Given the description of an element on the screen output the (x, y) to click on. 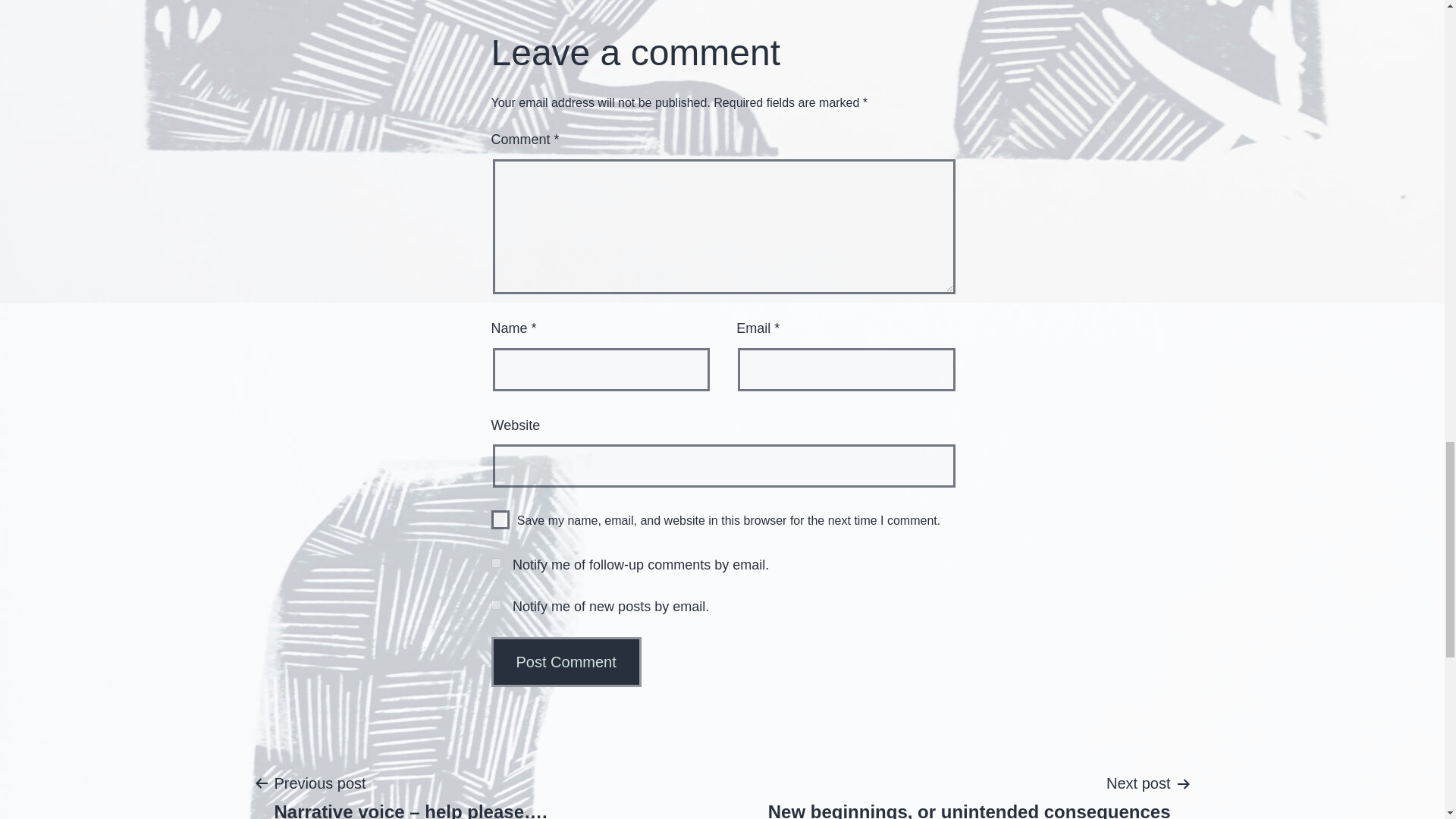
Post Comment (968, 794)
yes (567, 662)
Post Comment (500, 519)
